Given the description of an element on the screen output the (x, y) to click on. 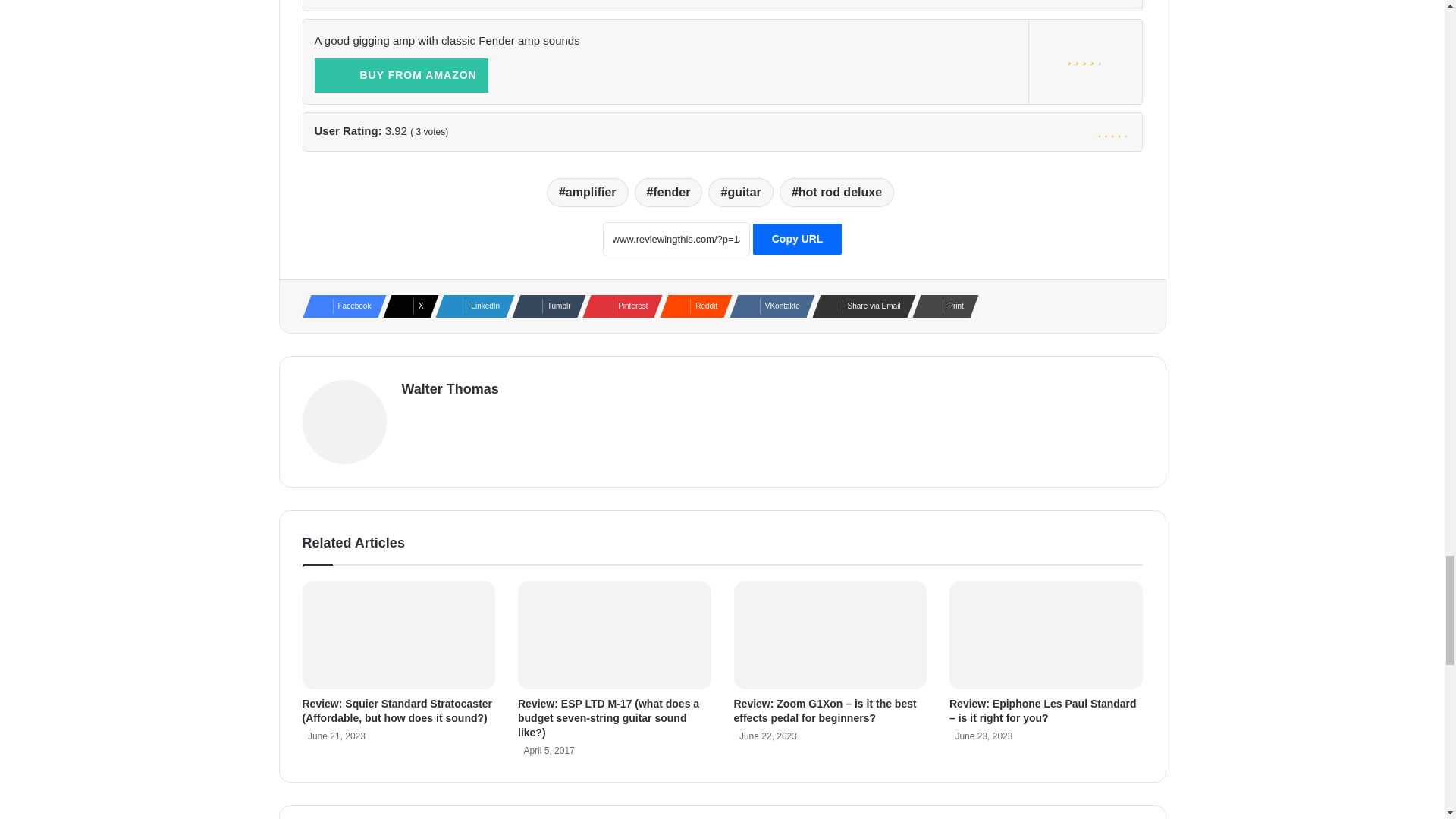
Facebook (339, 305)
X (405, 305)
VKontakte (767, 305)
X (405, 305)
LinkedIn (470, 305)
fender (668, 192)
BUY FROM AMAZON (400, 75)
guitar (740, 192)
Tumblr (544, 305)
Facebook (339, 305)
Reddit (691, 305)
Share via Email (859, 305)
LinkedIn (470, 305)
Print (940, 305)
Pinterest (617, 305)
